Given the description of an element on the screen output the (x, y) to click on. 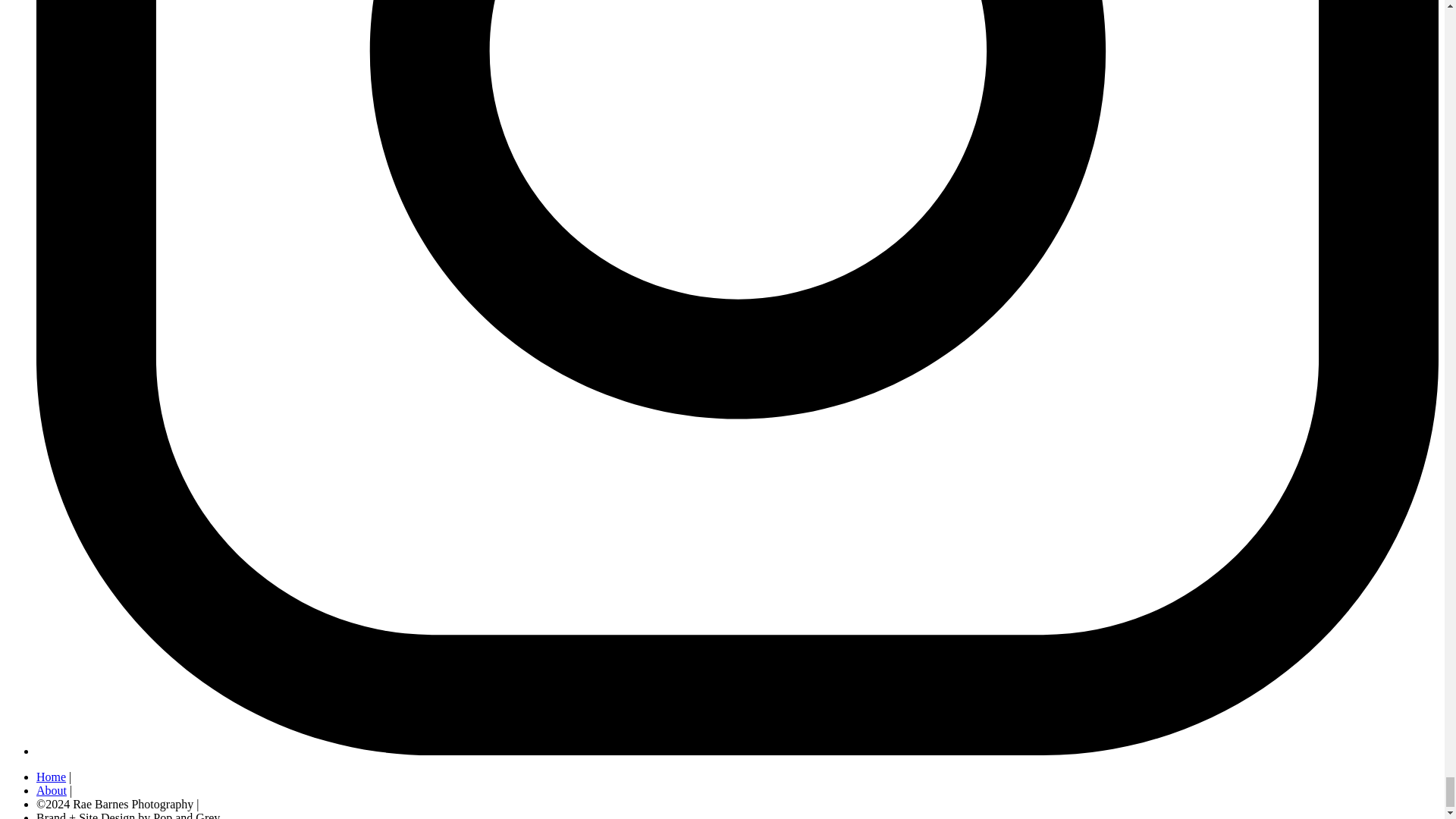
About (51, 789)
Home (50, 776)
